Given the description of an element on the screen output the (x, y) to click on. 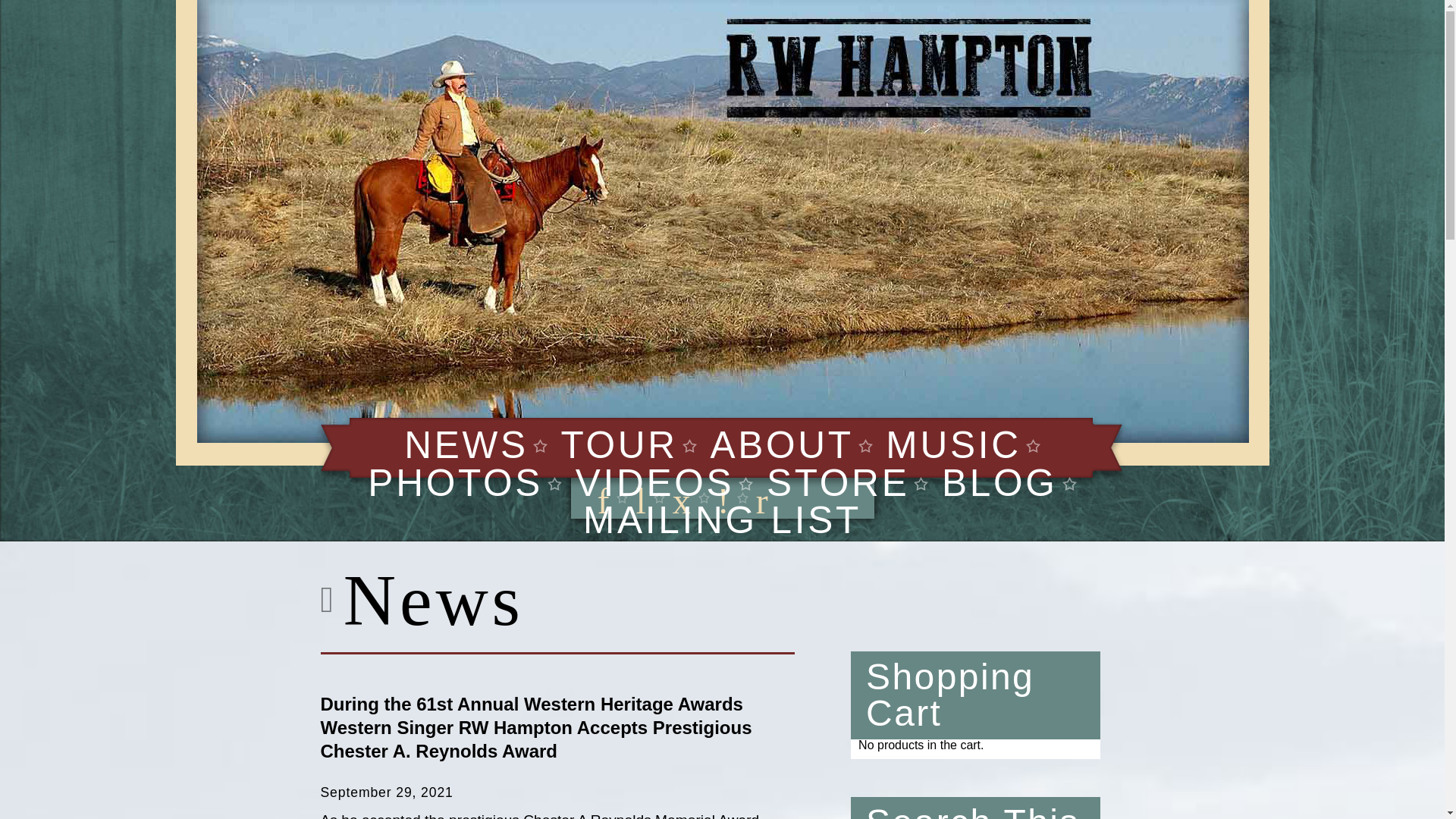
BLOG (1000, 482)
MAILING LIST (722, 519)
ABOUT (781, 445)
MUSIC (952, 445)
VIDEOS (655, 482)
NEWS (466, 445)
STORE (838, 482)
PHOTOS (455, 482)
TOUR (618, 445)
